Given the description of an element on the screen output the (x, y) to click on. 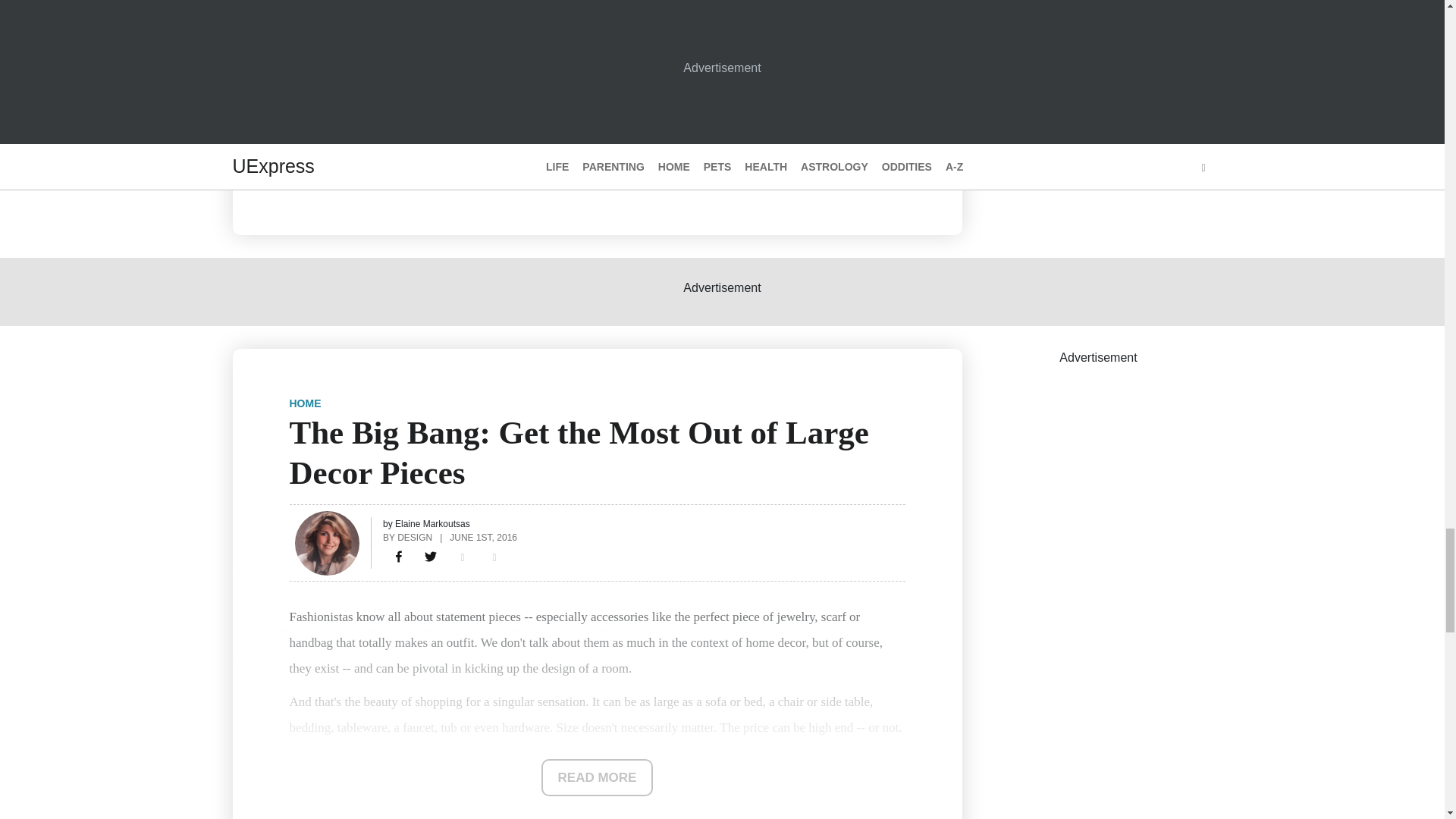
HOME (305, 403)
BY DESIGN (407, 537)
The Big Bang: Get the Most Out of Large Decor Pieces (398, 556)
VIEW COMMENTS (361, 170)
READ MORE (597, 777)
